Given the description of an element on the screen output the (x, y) to click on. 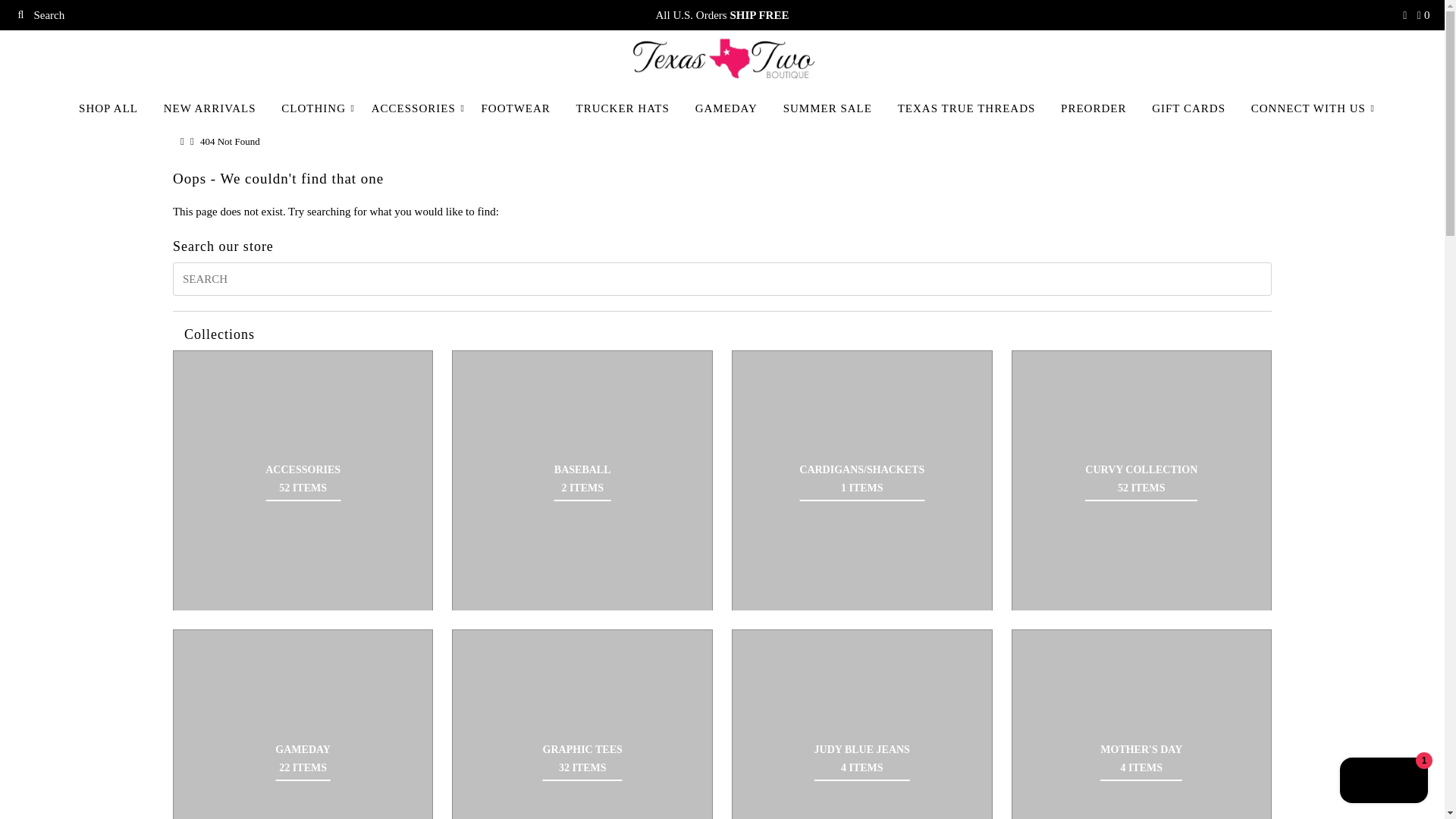
Accessories (302, 479)
Accessories (303, 480)
Curvy Collection (1140, 479)
Graphic Tees (583, 759)
CLOTHING (312, 107)
Mother's Day (1141, 759)
Graphic Tees (582, 724)
Gameday (302, 759)
Baseball (582, 479)
Gameday (303, 724)
Baseball (582, 480)
Judy Blue Jeans (861, 759)
Judy Blue Jeans (862, 724)
Curvy Collection (1141, 480)
Mother's Day (1141, 724)
